Given the description of an element on the screen output the (x, y) to click on. 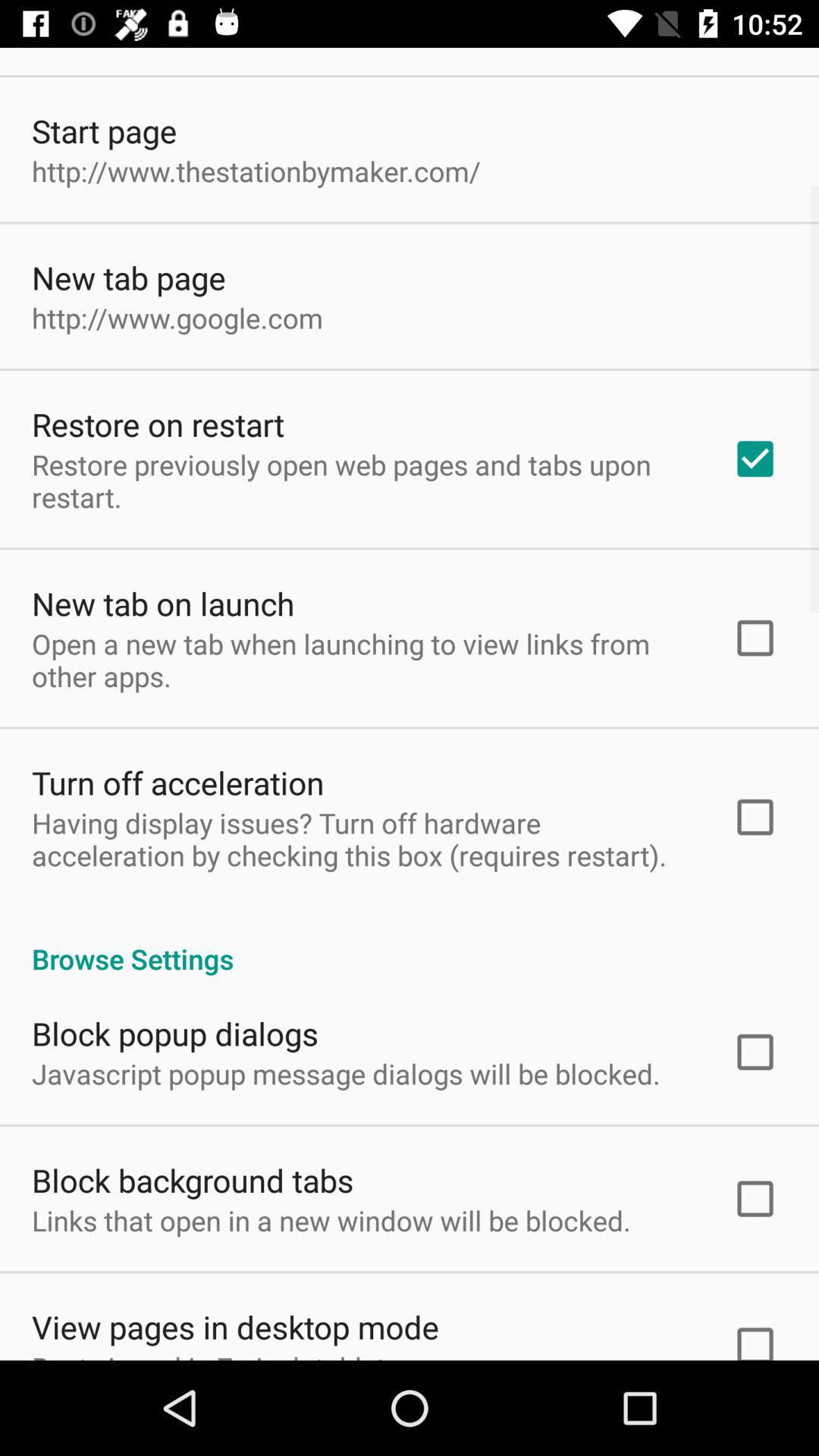
press the block background tabs app (192, 1179)
